Given the description of an element on the screen output the (x, y) to click on. 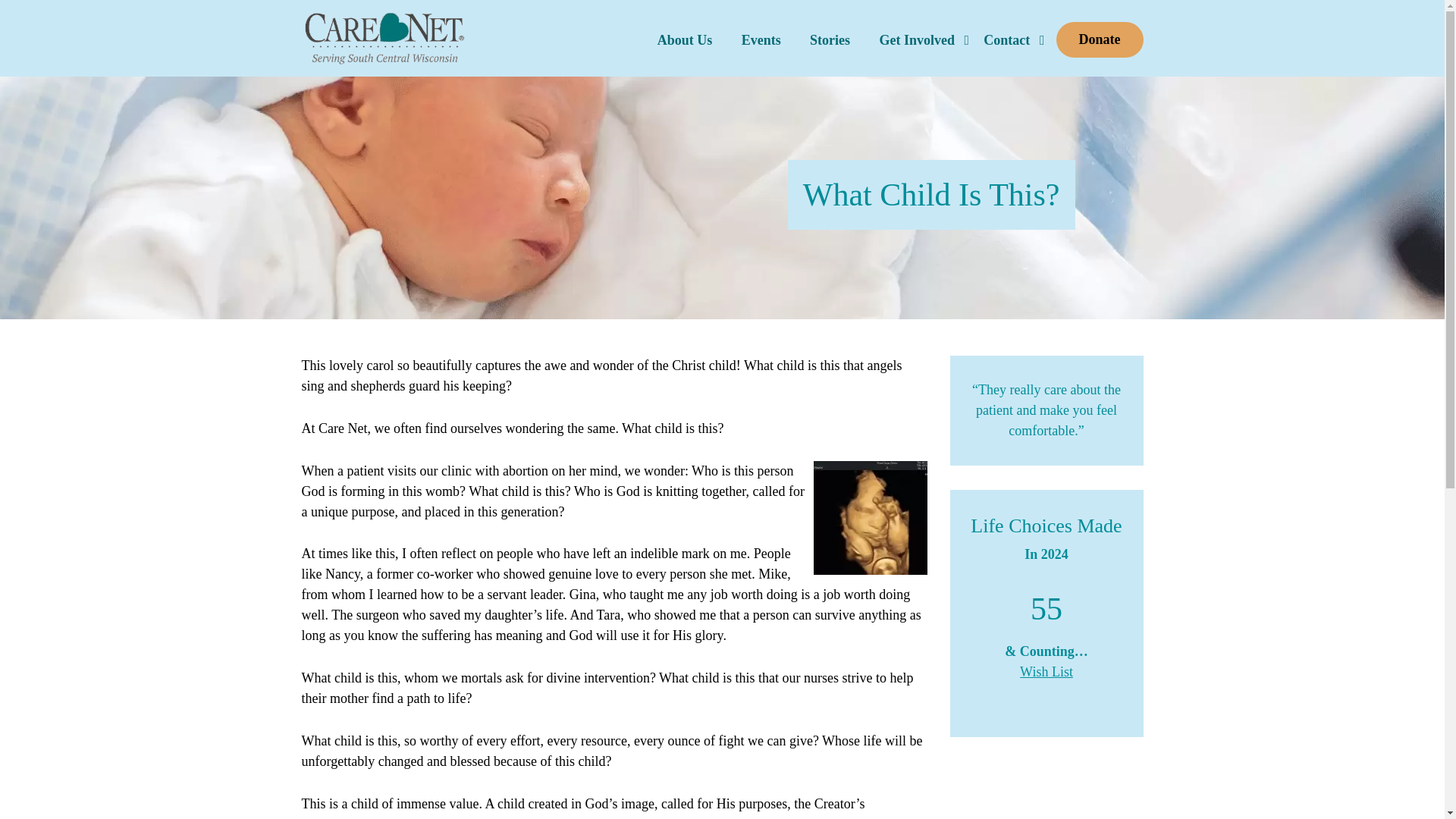
Donate (1098, 39)
Donate (1098, 39)
Contact (1006, 34)
Get Involved (916, 34)
Wish List (1046, 671)
Events (760, 34)
About Us (684, 34)
Contact (1006, 34)
Stories (829, 34)
Events (760, 34)
